Given the description of an element on the screen output the (x, y) to click on. 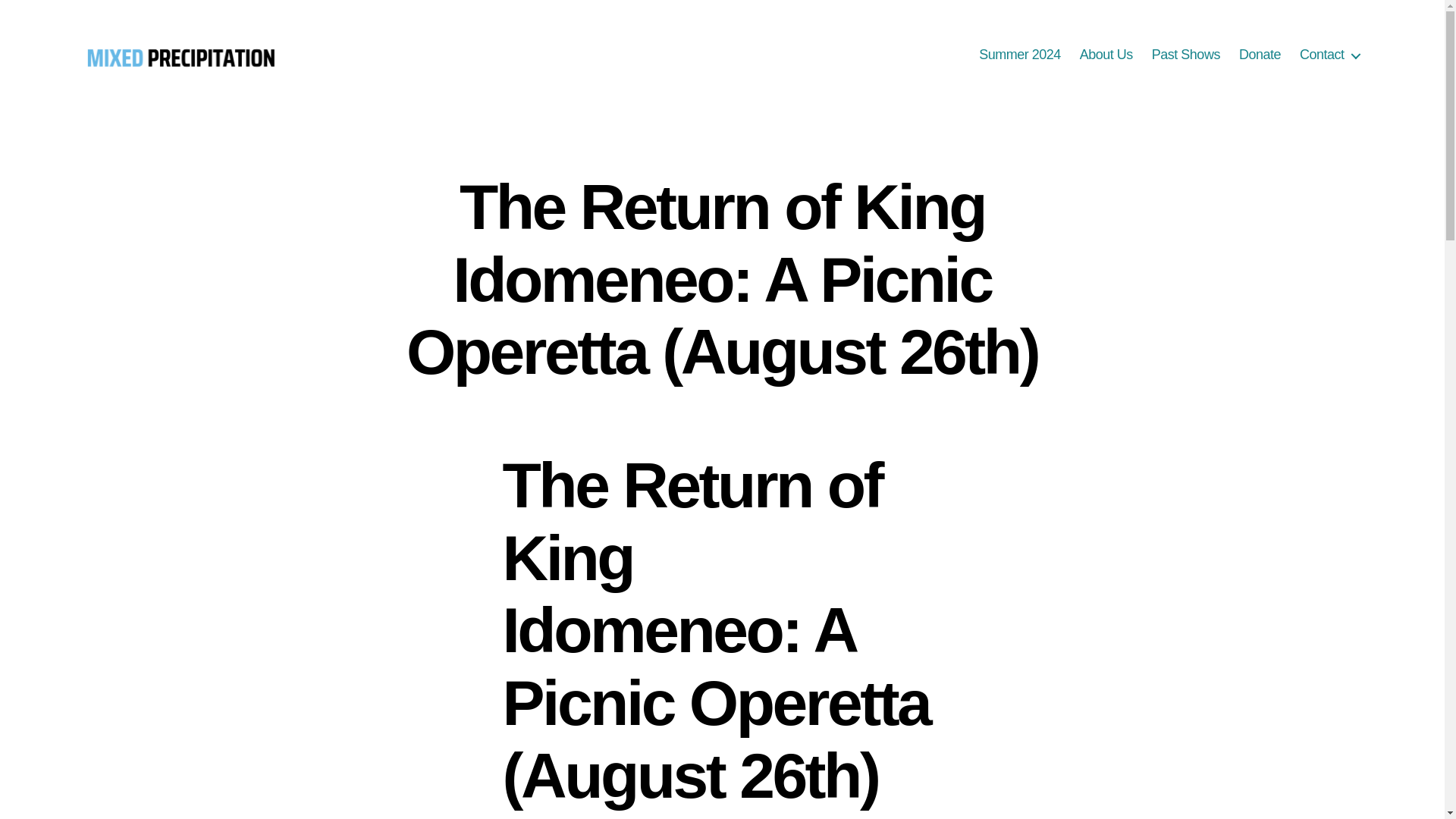
About Us (1106, 54)
Summer 2024 (1019, 54)
Donate (1260, 54)
Past Shows (1185, 54)
Contact (1329, 54)
